Given the description of an element on the screen output the (x, y) to click on. 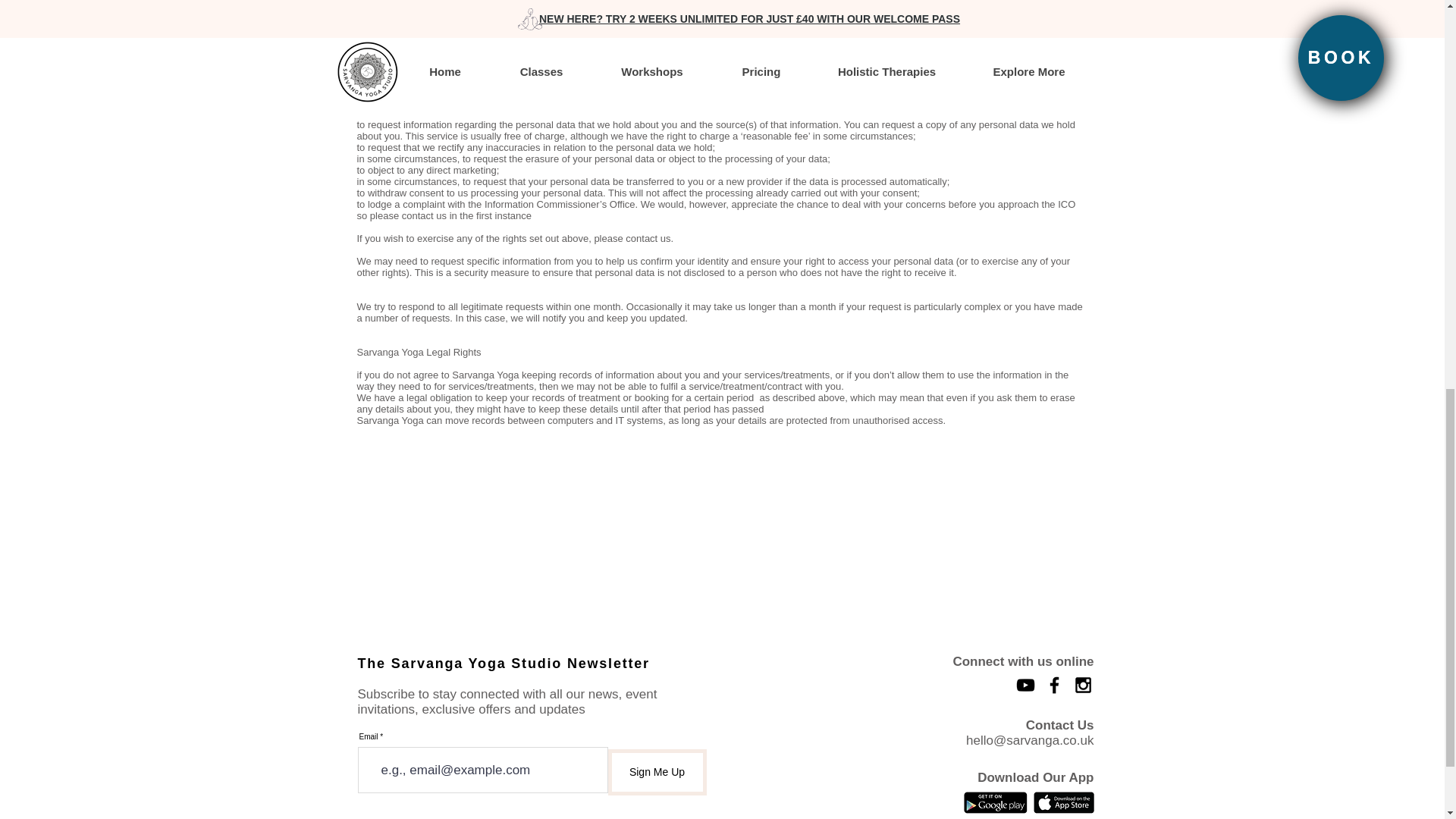
Sign Me Up (657, 772)
Download our free studio app (1062, 802)
Download our free studio app (994, 802)
